Given the description of an element on the screen output the (x, y) to click on. 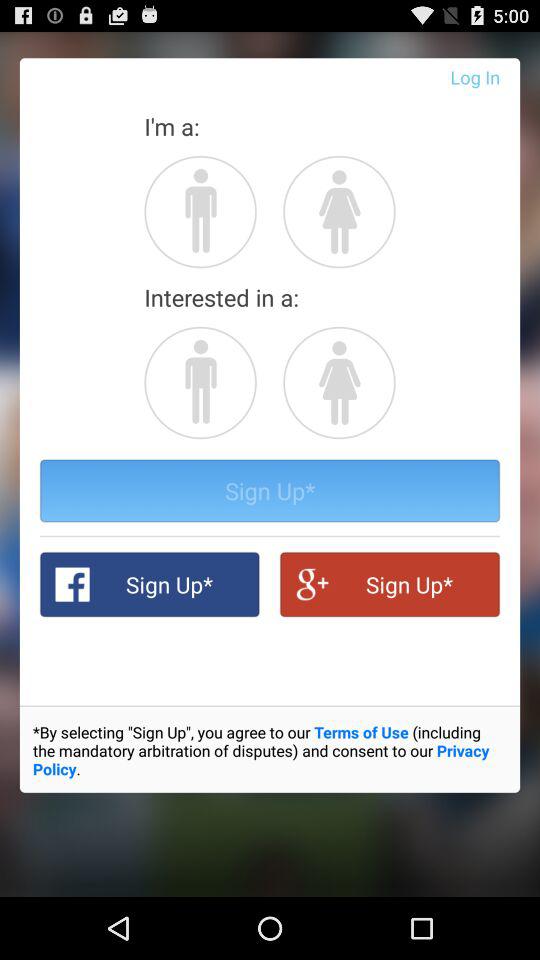
click on first icon below interested in a (200, 382)
click on last icon below im a (338, 210)
click on 2nd icon below interested in a (338, 382)
